Given the description of an element on the screen output the (x, y) to click on. 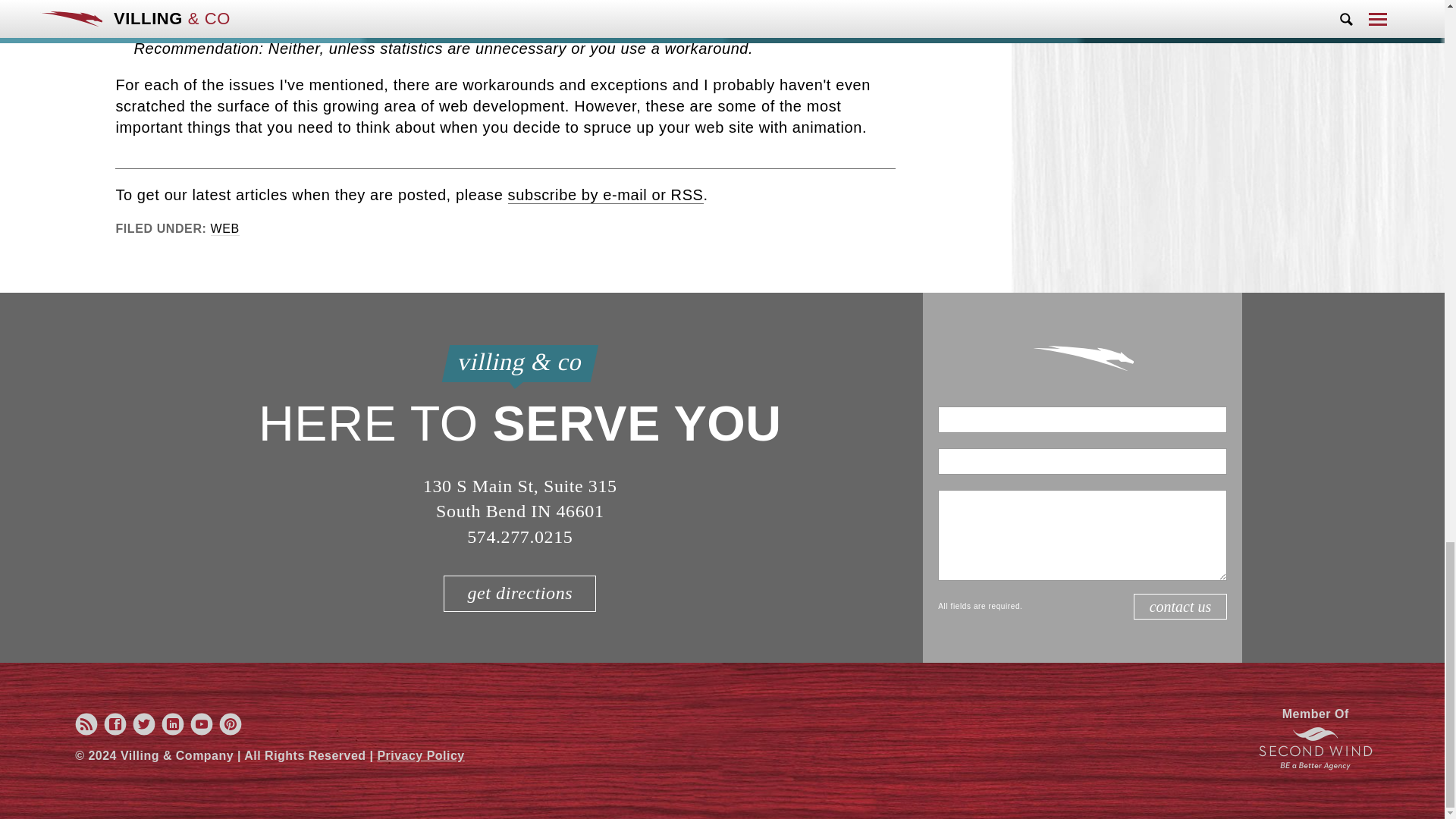
Subscribe with RSS (86, 731)
Follow Us on Pinterest (230, 731)
subscribe by e-mail or RSS (605, 194)
WEB (225, 228)
Follow Us on LinkedIn (172, 731)
Message (1082, 534)
contact us (1180, 606)
Email (1082, 461)
get directions (519, 593)
Subscribe to our YouTube channel (201, 731)
Follow Us on Twitter (143, 731)
Name (1082, 419)
Like Us on Facebook (115, 731)
